Given the description of an element on the screen output the (x, y) to click on. 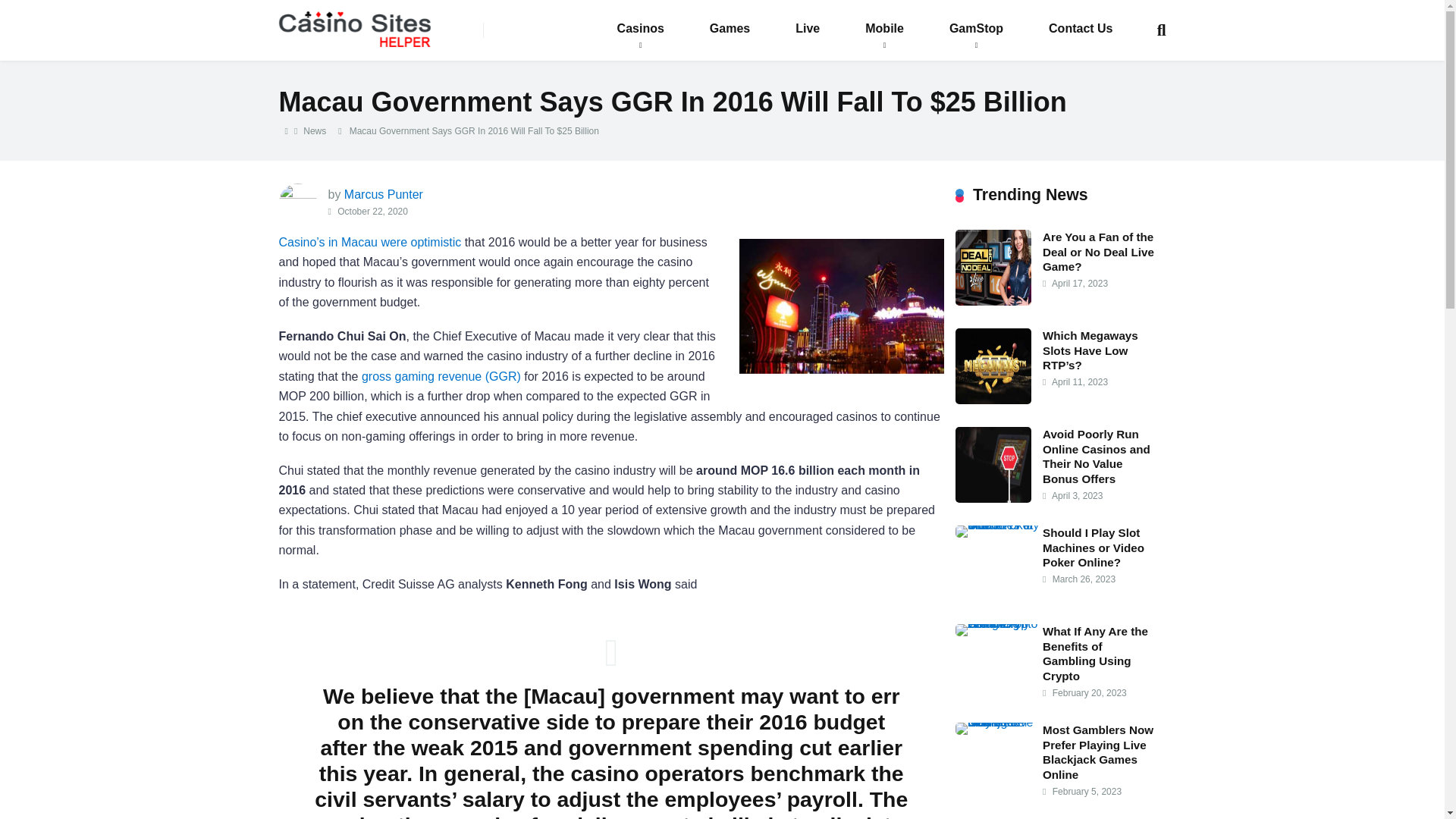
Mobile (884, 29)
Posts by Marcus Punter (383, 194)
Home (286, 131)
Live (808, 29)
Marcus Punter (383, 194)
GamStop (976, 29)
News (314, 131)
